Given the description of an element on the screen output the (x, y) to click on. 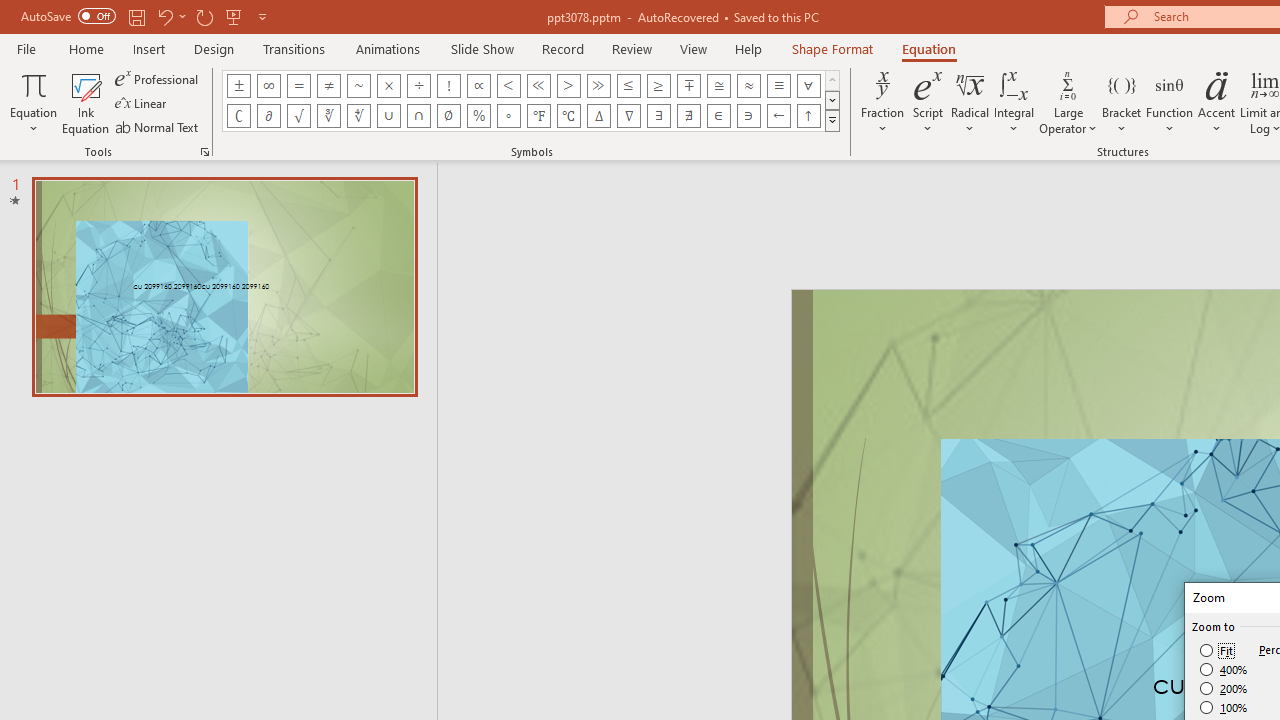
Equation Symbol Much Less Than (538, 85)
Equation Symbol Approximately (358, 85)
400% (1224, 669)
Equation Symbol Intersection (418, 115)
Equation Symbols (832, 120)
Professional (158, 78)
Accent (1216, 102)
Equation (33, 102)
Equation Symbol Degrees Celsius (568, 115)
Equation Symbol Proportional To (478, 85)
